Given the description of an element on the screen output the (x, y) to click on. 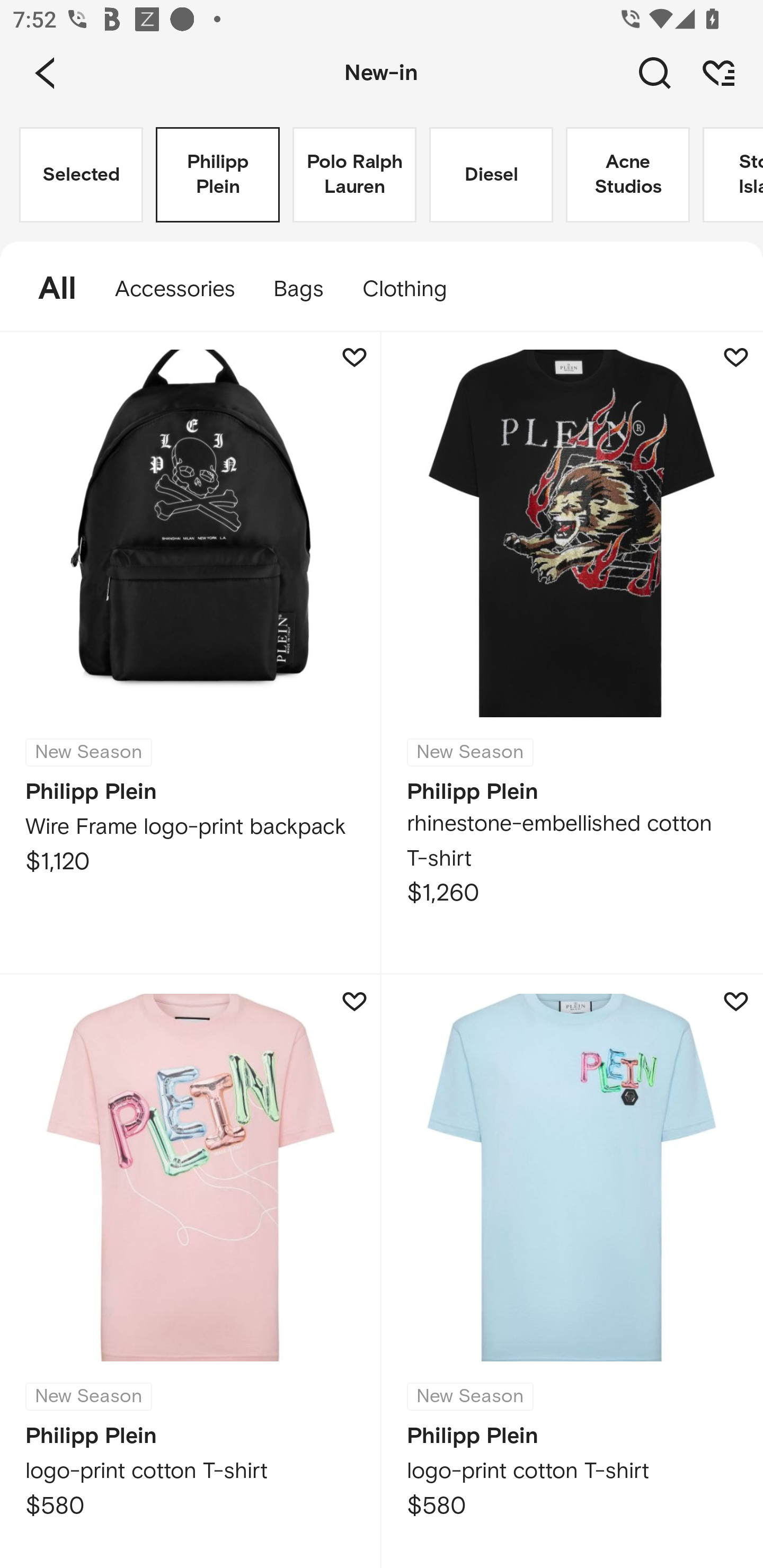
Selected (81, 174)
Philipp Plein (217, 174)
Polo Ralph Lauren (354, 174)
Diesel (490, 174)
Acne Studios (627, 174)
All (47, 288)
Accessories (174, 288)
Bags (298, 288)
Clothing (413, 288)
